Given the description of an element on the screen output the (x, y) to click on. 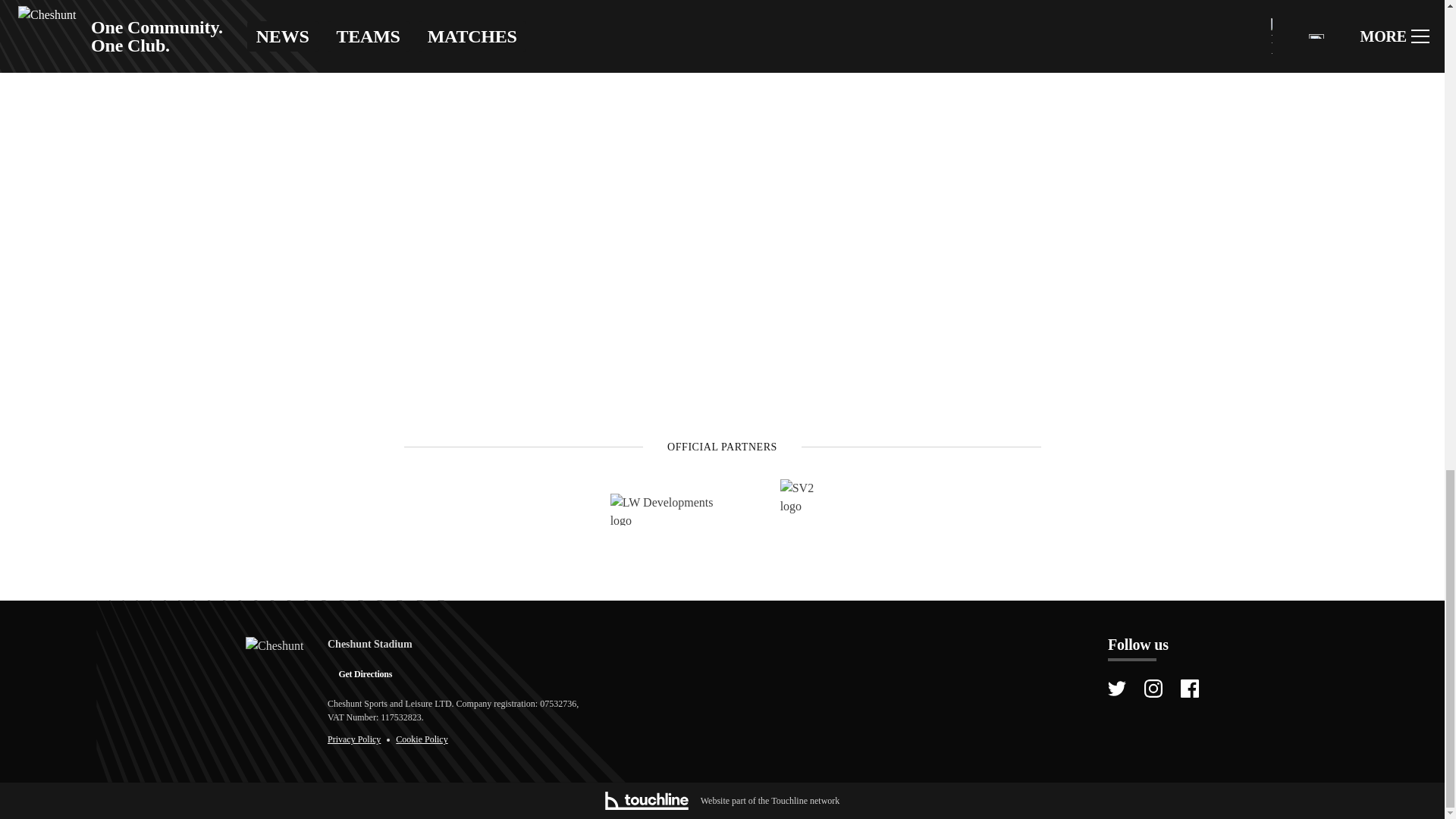
Find us on Instagram (1152, 688)
Find us on Facebook (1189, 688)
Privacy Policy (353, 739)
Get Directions (365, 673)
Find us on Twitter (1116, 688)
Cookie Policy (421, 739)
